Given the description of an element on the screen output the (x, y) to click on. 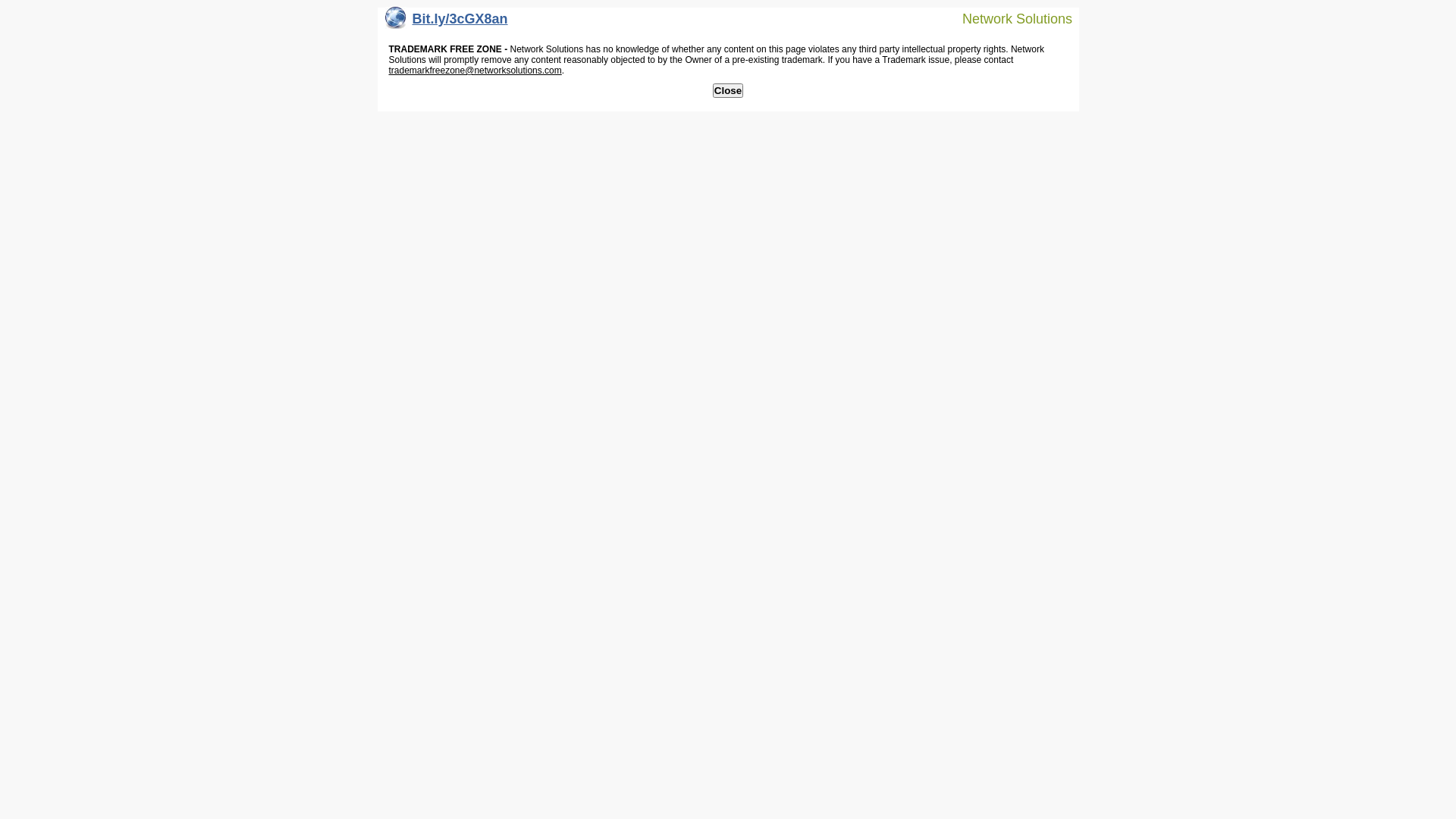
trademarkfreezone@networksolutions.com Element type: text (474, 70)
Bit.ly/3cGX8an Element type: text (446, 21)
Close Element type: text (727, 90)
Network Solutions Element type: text (1007, 17)
